Given the description of an element on the screen output the (x, y) to click on. 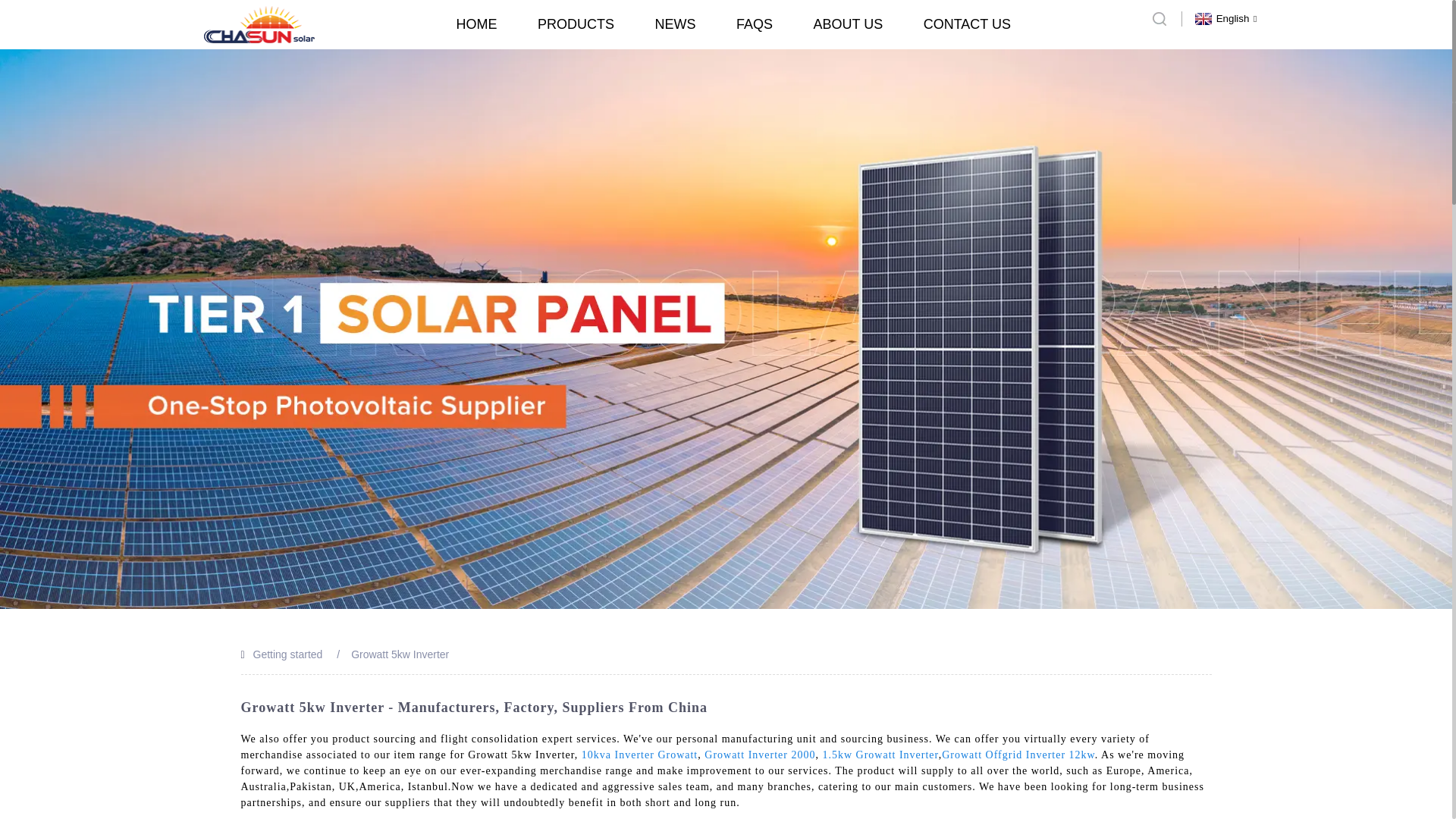
10kva Inverter Growatt (638, 754)
PRODUCTS (575, 23)
Growatt Inverter 2000 (759, 754)
Growatt 5kw Inverter (399, 654)
ABOUT US (847, 23)
10kva Inverter Growatt (638, 754)
Growatt Inverter 2000 (759, 754)
Getting started (288, 654)
English (1224, 18)
1.5kw Growatt Inverter (879, 754)
NEWS (675, 23)
HOME (477, 23)
CONTACT US (966, 23)
Growatt Offgrid Inverter 12kw (1018, 754)
Growatt Offgrid Inverter 12kw (1018, 754)
